Given the description of an element on the screen output the (x, y) to click on. 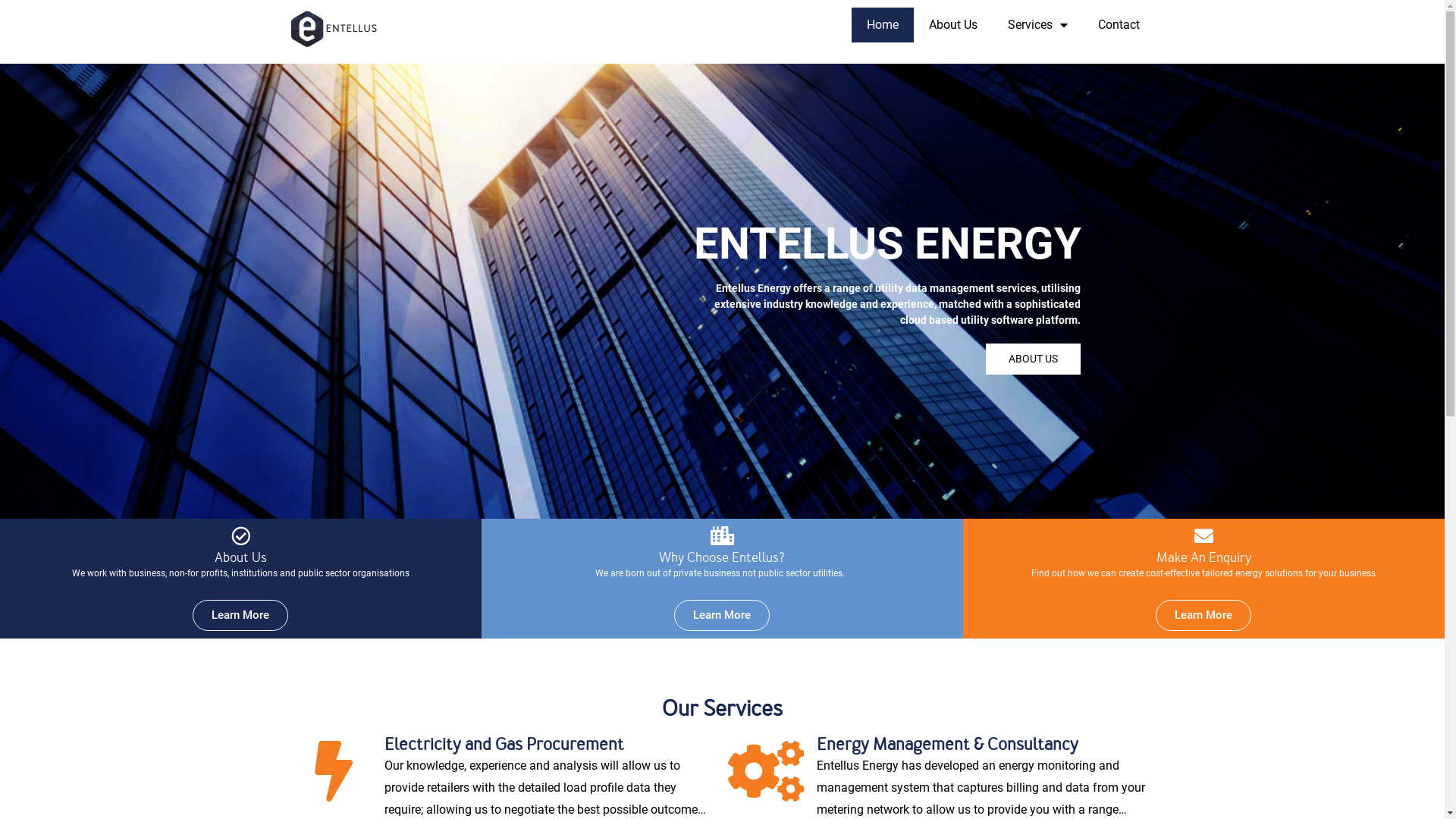
Home Element type: text (881, 24)
Services Element type: text (1036, 24)
Contact Element type: text (1118, 24)
Learn More Element type: text (240, 614)
Learn More Element type: text (1203, 614)
Learn More Element type: text (721, 614)
ABOUT US Element type: text (1032, 358)
About Us Element type: text (952, 24)
